Given the description of an element on the screen output the (x, y) to click on. 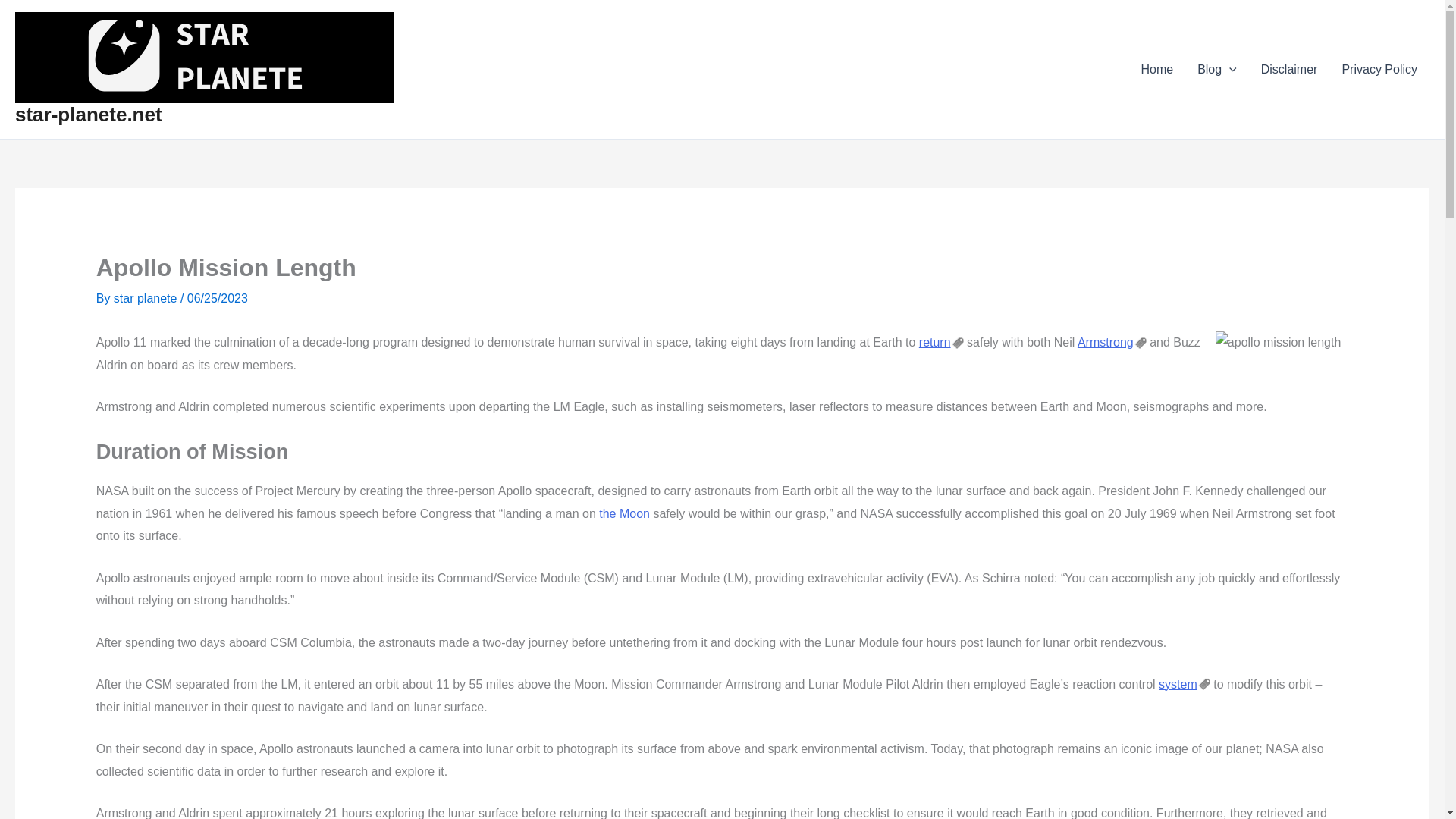
Home (1156, 69)
Blog (1217, 69)
View all posts by star planete (146, 297)
star-planete.net (87, 114)
